Given the description of an element on the screen output the (x, y) to click on. 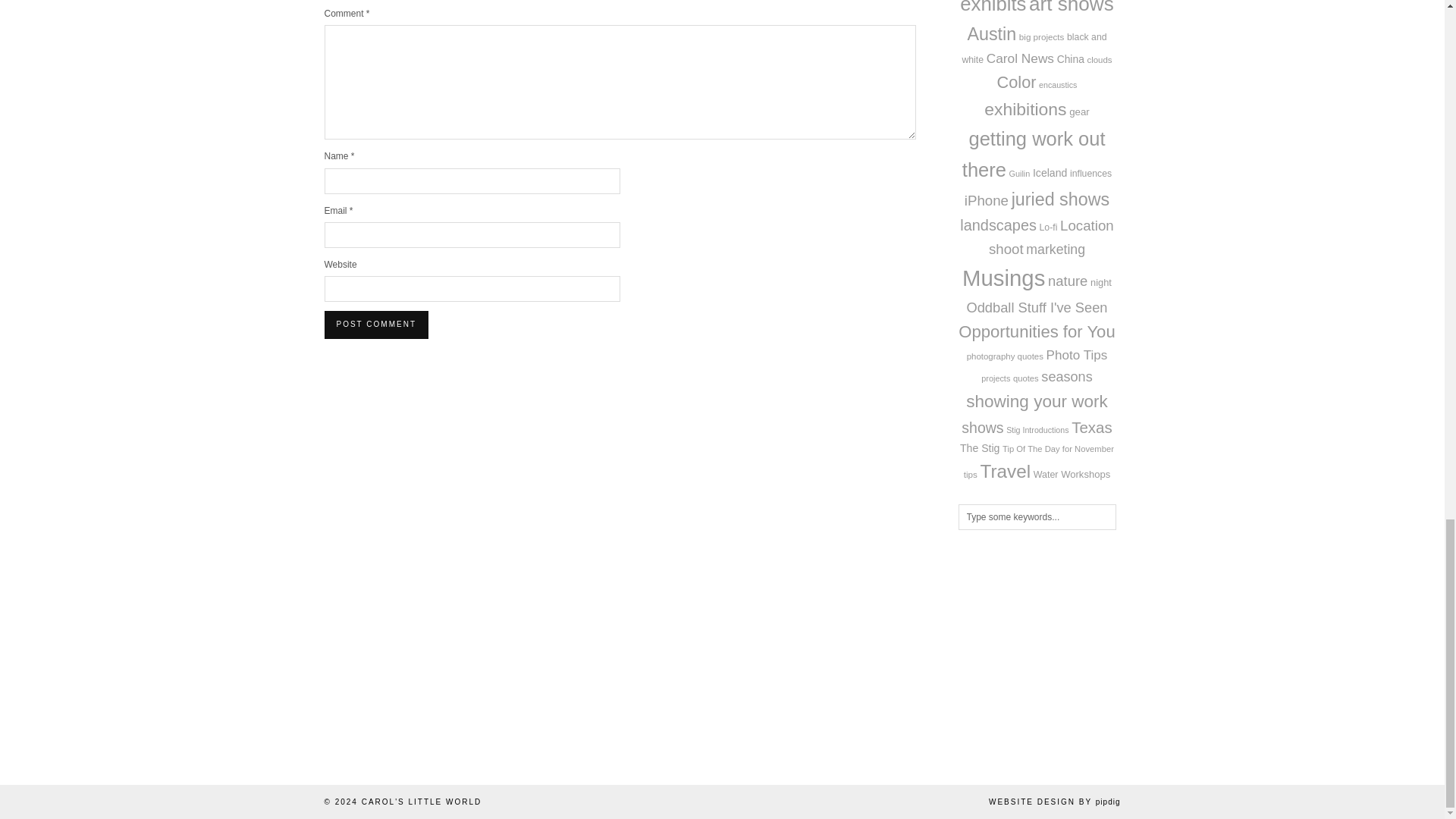
art exhibits (1024, 7)
art shows (1071, 7)
Post Comment (376, 324)
Post Comment (376, 324)
